Given the description of an element on the screen output the (x, y) to click on. 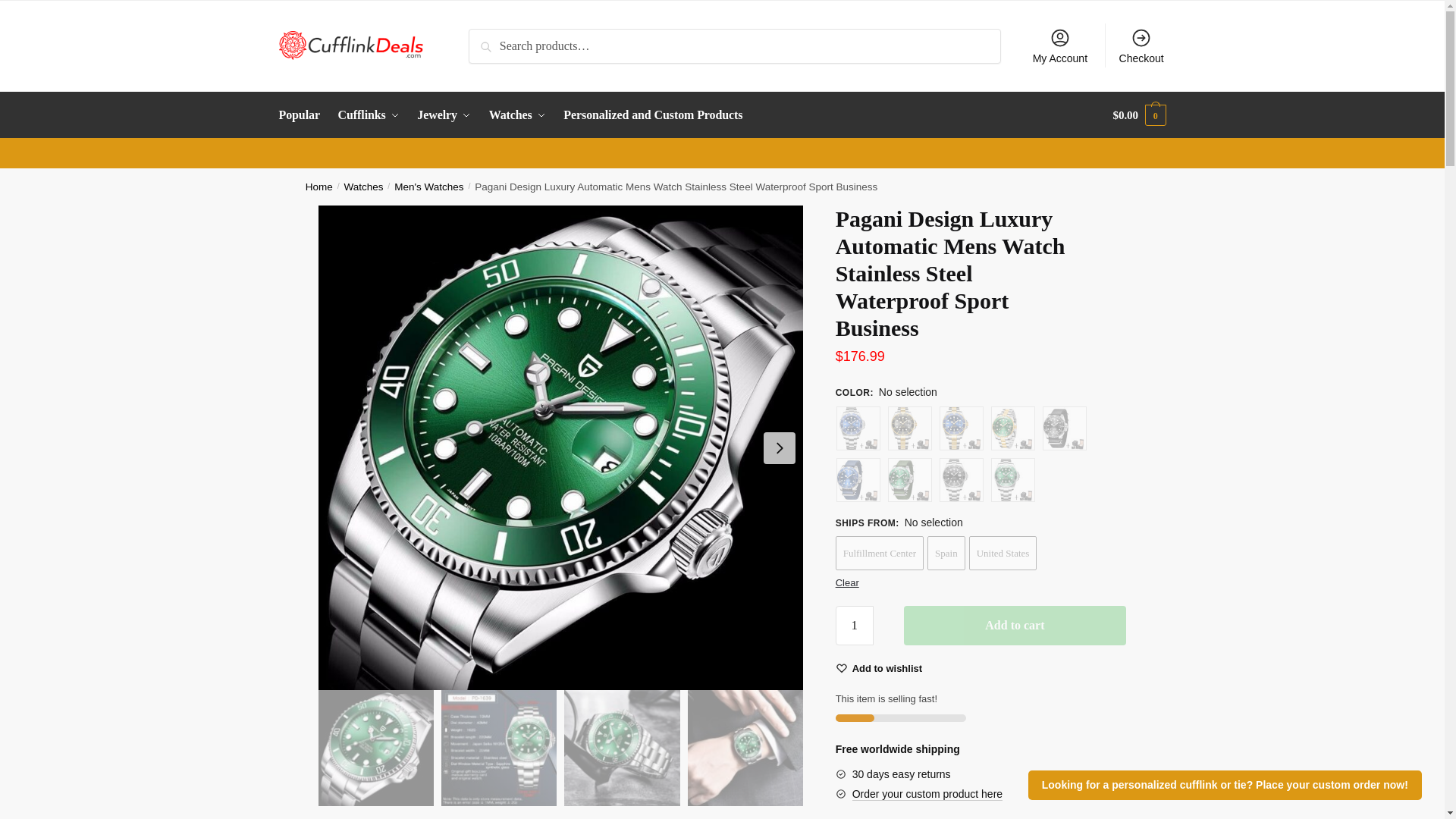
Checkout (1141, 45)
View your shopping cart (1139, 115)
1 (854, 625)
Jewelry (443, 115)
My Account (1059, 45)
Watches (517, 115)
Popular (302, 115)
